Given the description of an element on the screen output the (x, y) to click on. 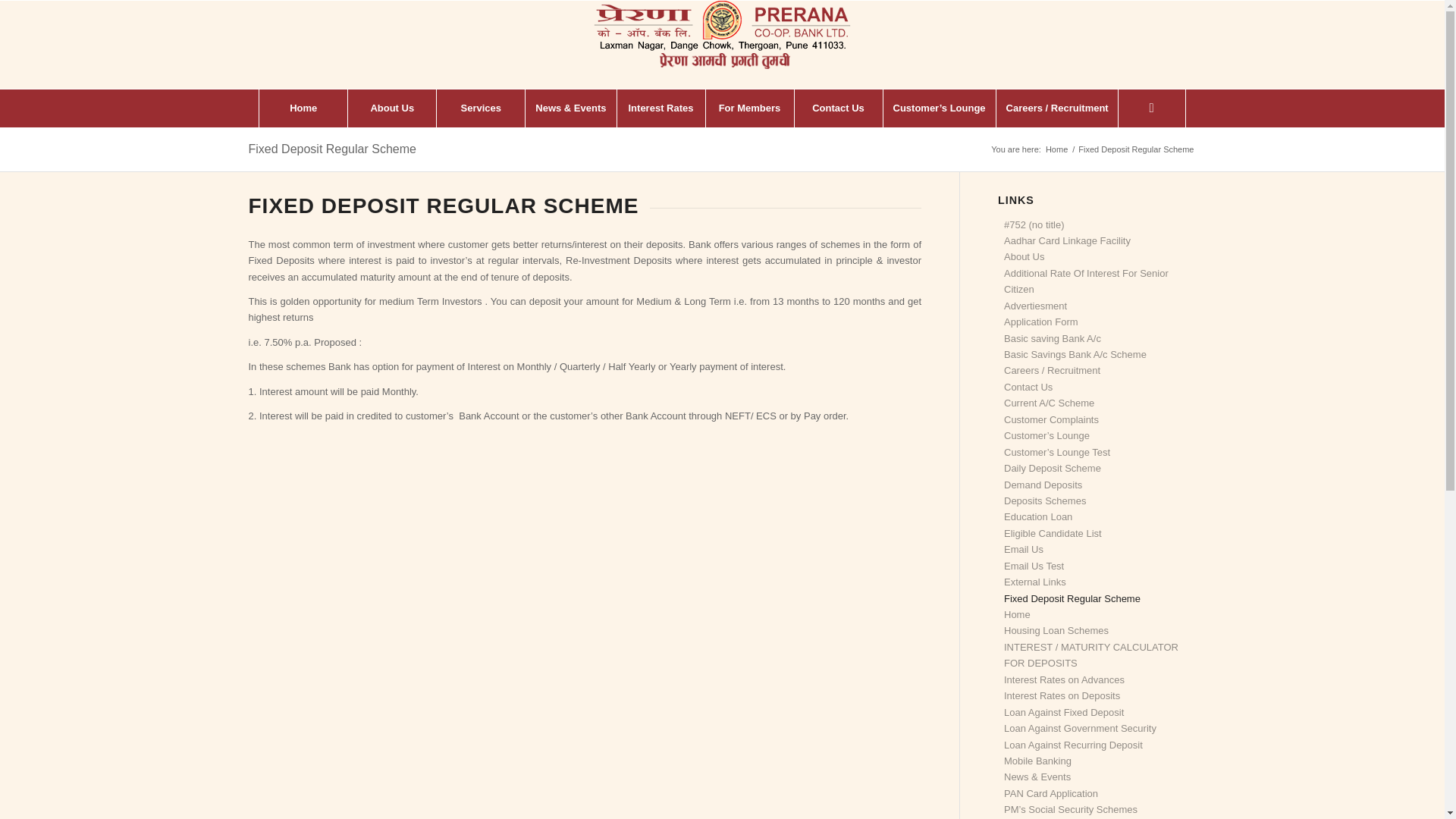
Services (479, 108)
About Us (1023, 256)
About Us (391, 108)
Aadhar Card Linkage Facility (1067, 240)
Customer Complaints (1051, 419)
Eligible Candidate List (1053, 532)
Home (1056, 149)
Contact Us (837, 108)
Interest Rates (659, 108)
Education Loan (1037, 516)
Email Us Test (1034, 565)
Fixed Deposit Regular Scheme (332, 148)
Permanent Link: Fixed Deposit Regular Scheme (332, 148)
Advertiesment (1035, 306)
Additional Rate Of Interest For Senior Citizen (1086, 280)
